Given the description of an element on the screen output the (x, y) to click on. 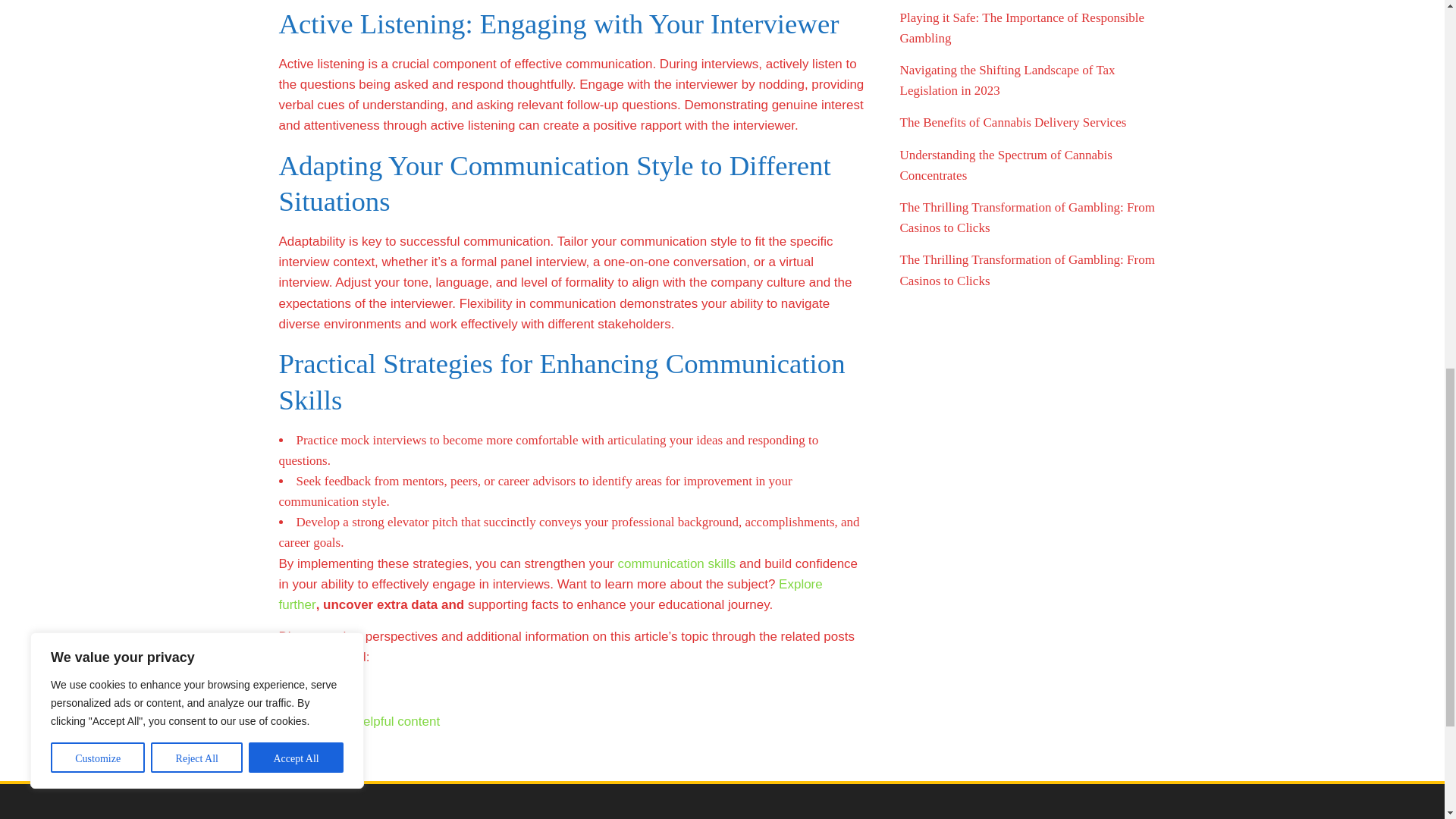
Explore further (550, 594)
The Benefits of Cannabis Delivery Services (1012, 122)
Assess more (316, 689)
Discover this helpful content (360, 721)
Navigating the Shifting Landscape of Tax Legislation in 2023 (1007, 80)
Playing it Safe: The Importance of Responsible Gambling (1021, 27)
communication skills (676, 563)
